Given the description of an element on the screen output the (x, y) to click on. 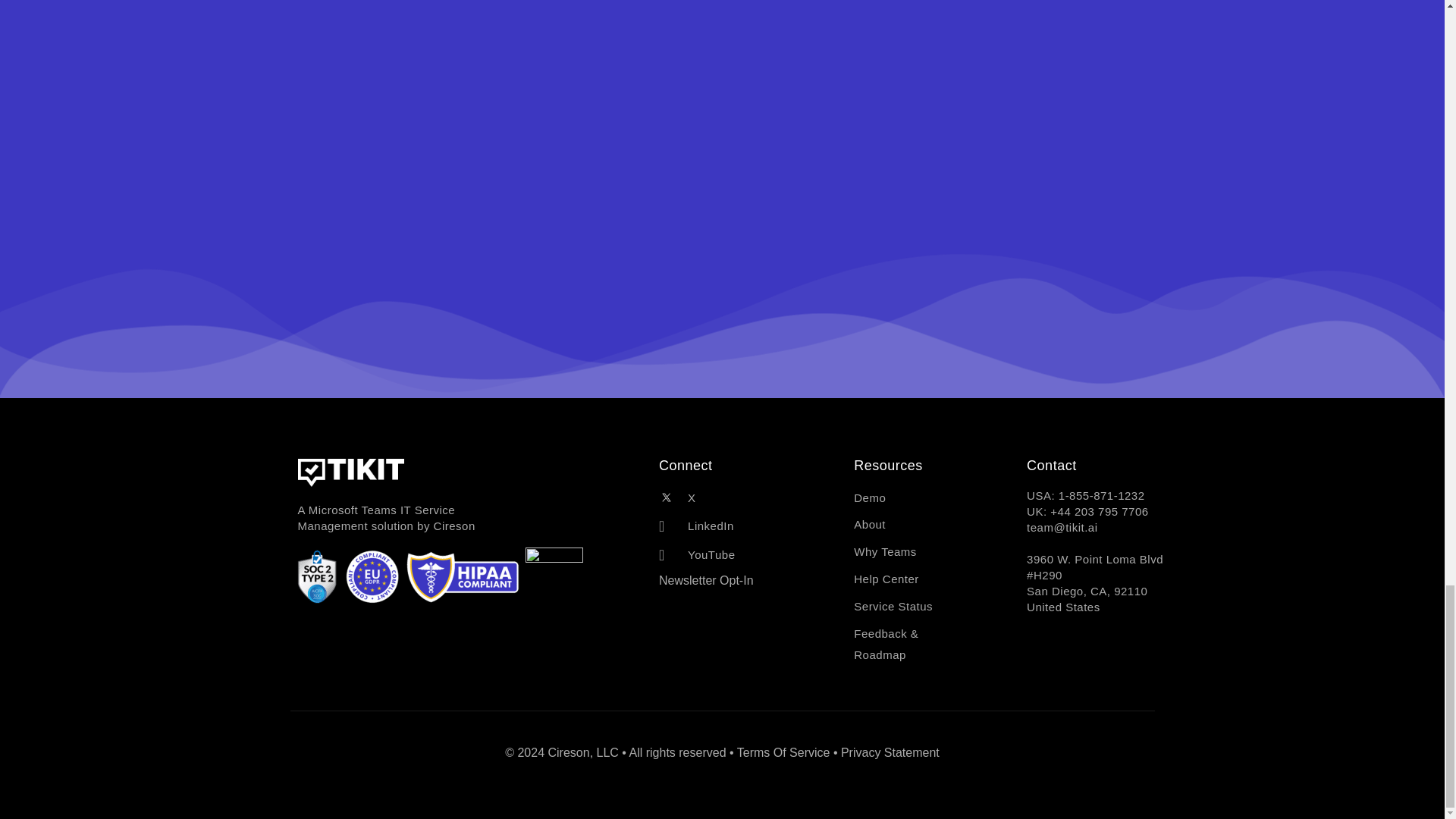
Terms Of Service (782, 752)
X (735, 497)
YouTube (735, 554)
Why Teams (911, 551)
LinkedIn (735, 526)
Help Center (911, 578)
Privacy Statement (890, 752)
Service Status (911, 606)
Demo (911, 497)
About (911, 524)
